Given the description of an element on the screen output the (x, y) to click on. 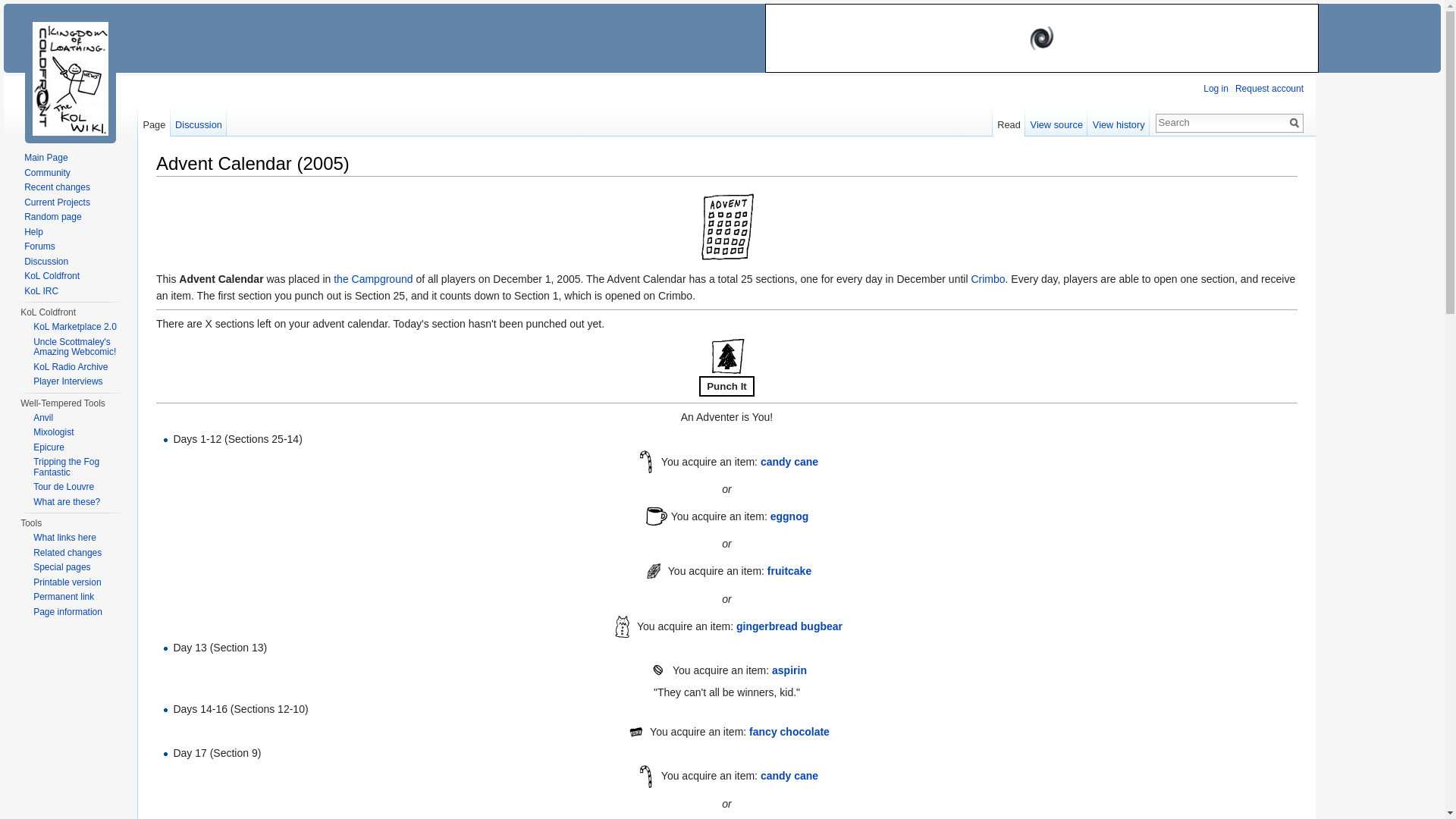
Crimbo (987, 278)
Candy cane (646, 775)
Candy cane (646, 460)
Eggnog (789, 516)
candy cane (789, 461)
Go (1294, 122)
Gingerbread bugbear (622, 625)
Fancy chocolate (635, 730)
fruitcake (788, 571)
The Campground (372, 278)
Candy cane (789, 775)
Fruitcake (653, 570)
Search (1294, 122)
Candy cane (789, 461)
Fruitcake (788, 571)
